Given the description of an element on the screen output the (x, y) to click on. 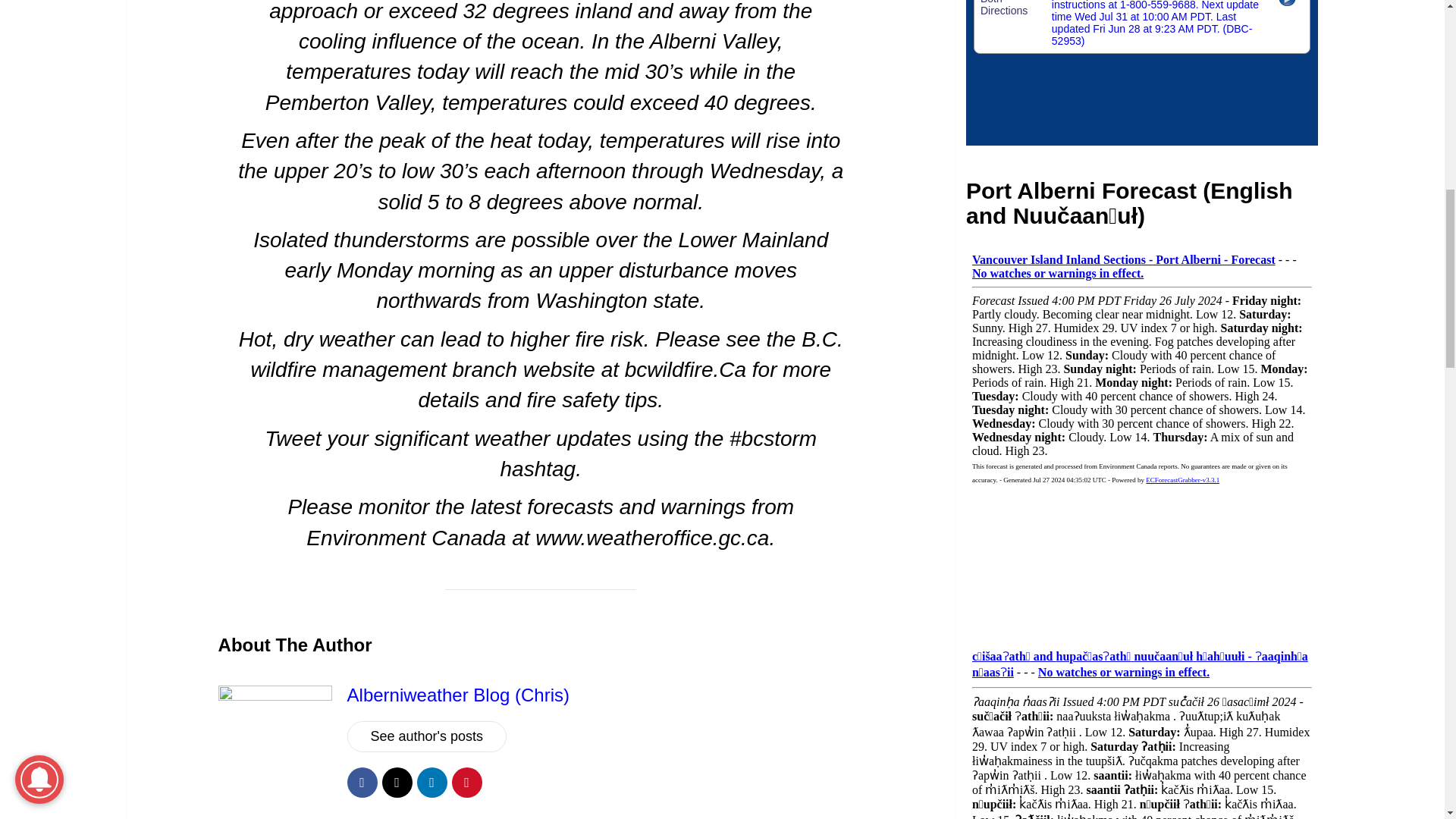
VI Inland Forecast (1141, 436)
BC Highway 4 (1141, 72)
